Given the description of an element on the screen output the (x, y) to click on. 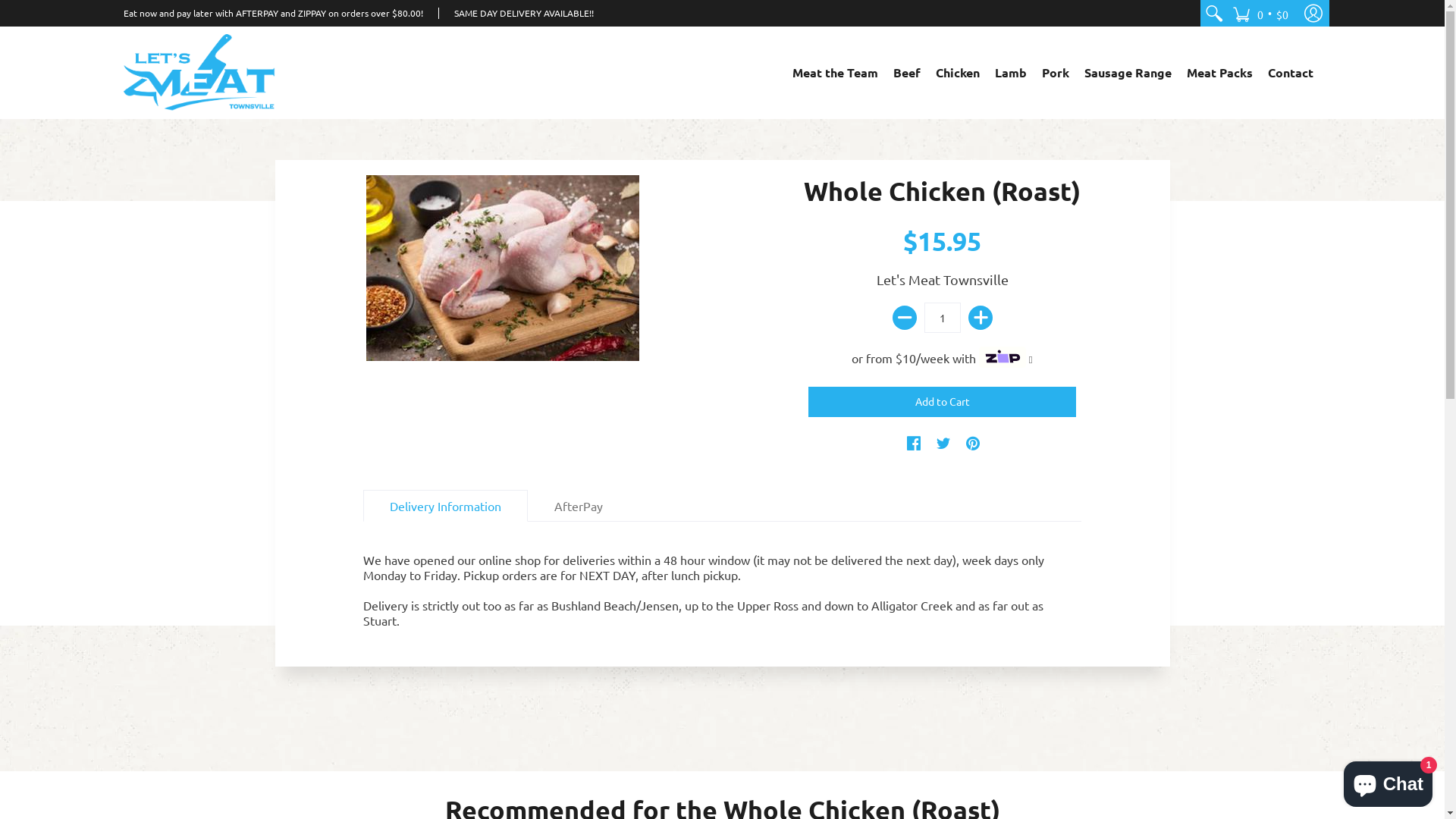
Shopify online store chat Element type: hover (1388, 780)
Log in Element type: hover (1312, 13)
Lamb Element type: text (1010, 72)
Meat the Team Element type: text (834, 72)
Contact Element type: text (1290, 72)
Add to Cart Element type: text (942, 401)
Search Element type: hover (1212, 13)
Delivery Information Element type: text (445, 505)
Chicken Element type: text (957, 72)
Let's Meat Townsville Element type: text (942, 279)
Sausage Range Element type: text (1127, 72)
Pork Element type: text (1055, 72)
Beef Element type: text (906, 72)
AfterPay Element type: text (578, 505)
Meat Packs Element type: text (1219, 72)
Let's Meat Townsville Element type: hover (198, 72)
